Given the description of an element on the screen output the (x, y) to click on. 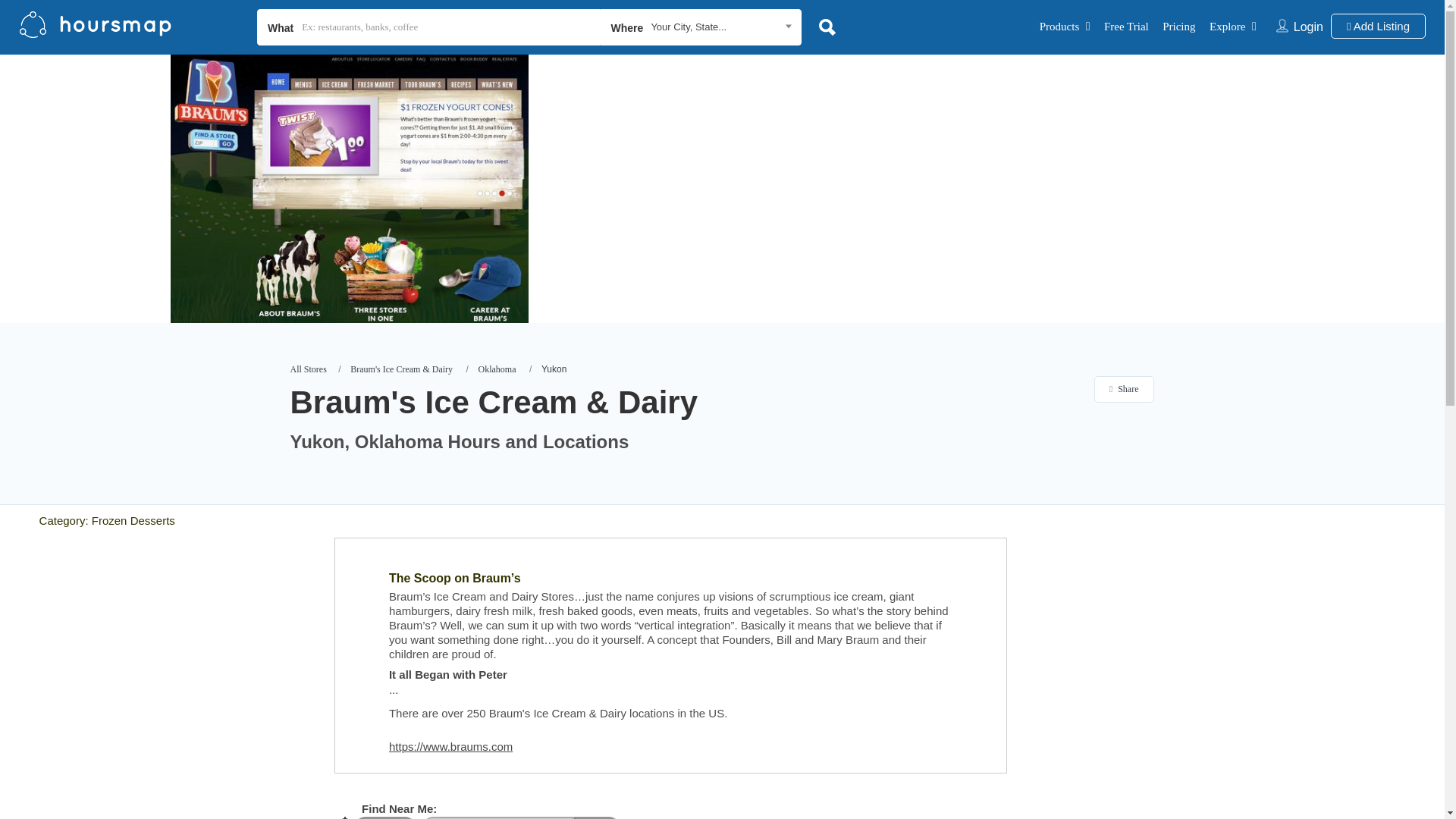
Your City, State... (722, 26)
Find Me (384, 817)
 Search (596, 817)
Advertisement (110, 810)
Advertisement (178, 643)
